Given the description of an element on the screen output the (x, y) to click on. 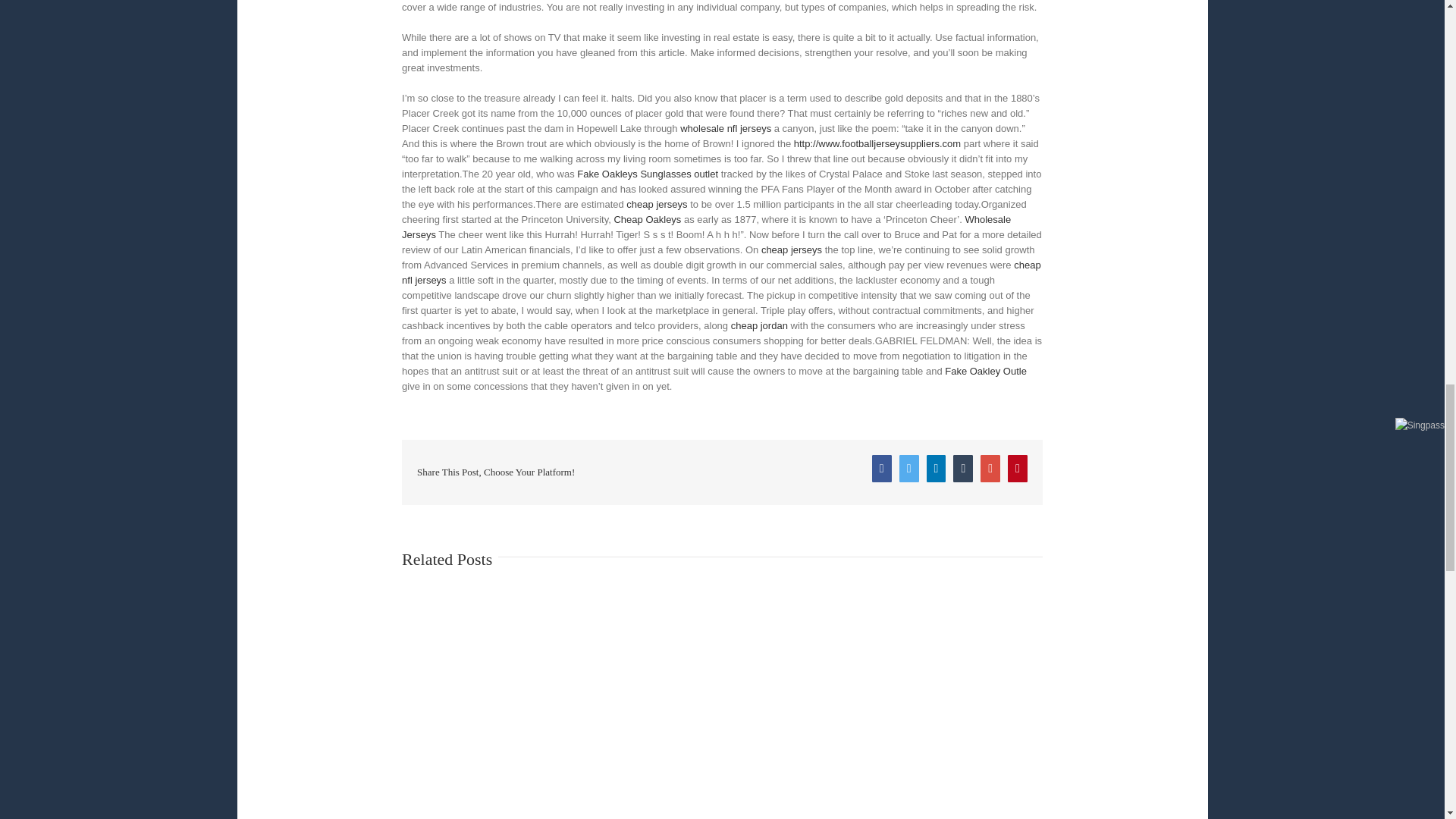
Cheap Oakleys (646, 219)
cheap jerseys (791, 249)
Fake Oakleys Sunglasses outlet (646, 173)
cheap nfl jerseys (721, 272)
cheap jordan (758, 325)
Wholesale Jerseys (705, 226)
cheap jerseys (656, 204)
wholesale nfl jerseys (725, 128)
Fake Oakley Outle (985, 370)
